Given the description of an element on the screen output the (x, y) to click on. 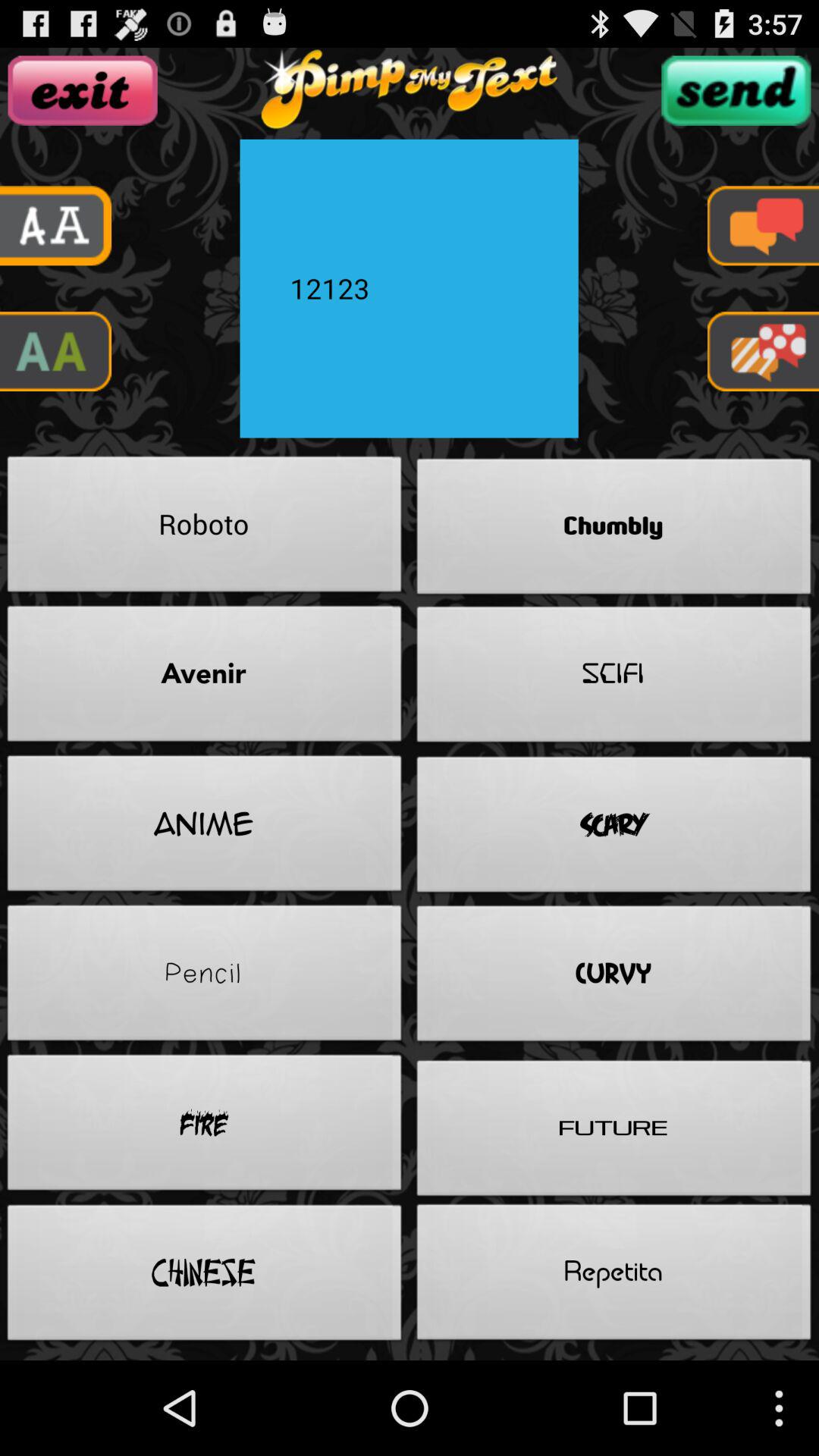
send button (736, 90)
